Given the description of an element on the screen output the (x, y) to click on. 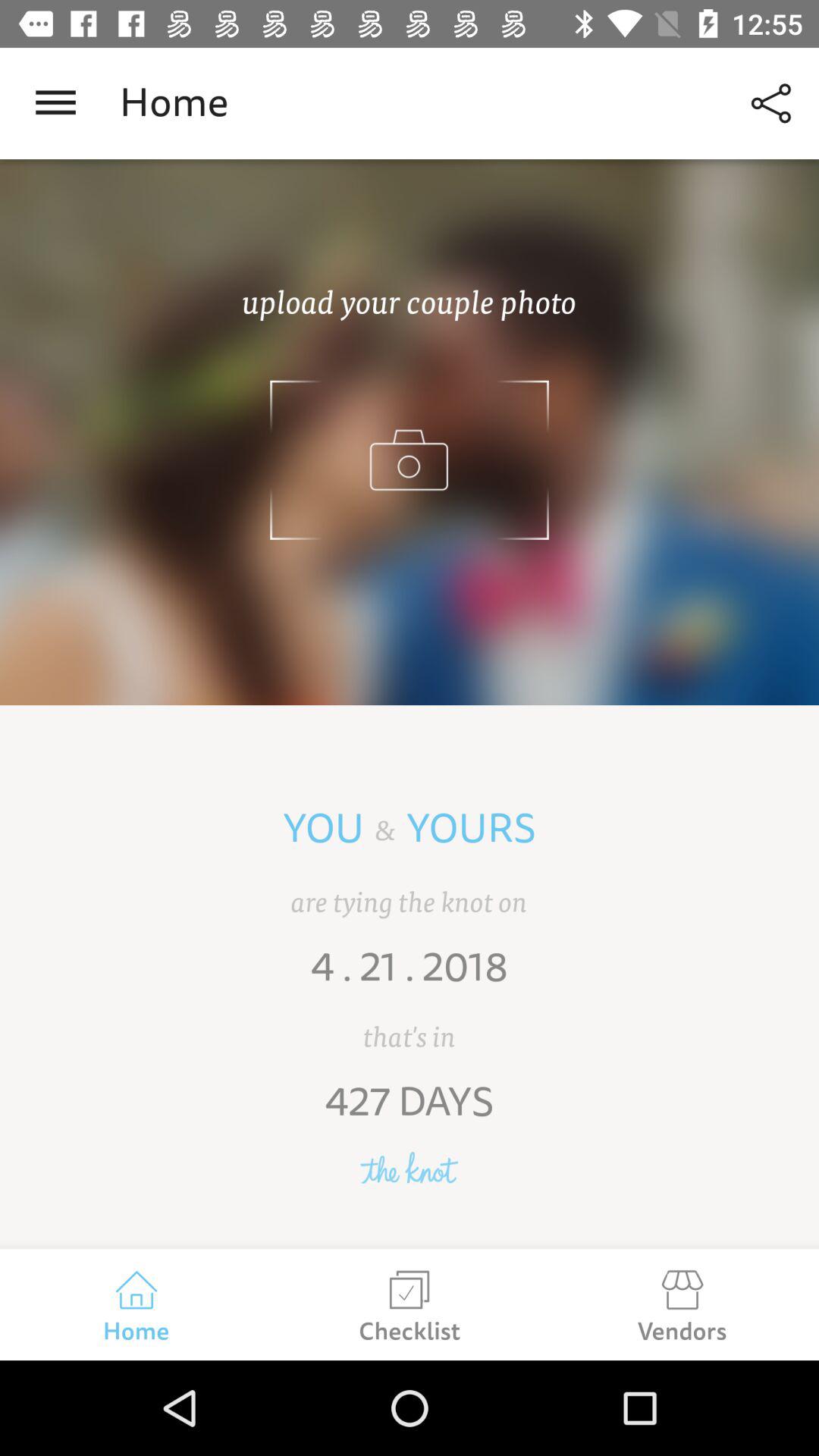
select the item next to home icon (771, 103)
